Given the description of an element on the screen output the (x, y) to click on. 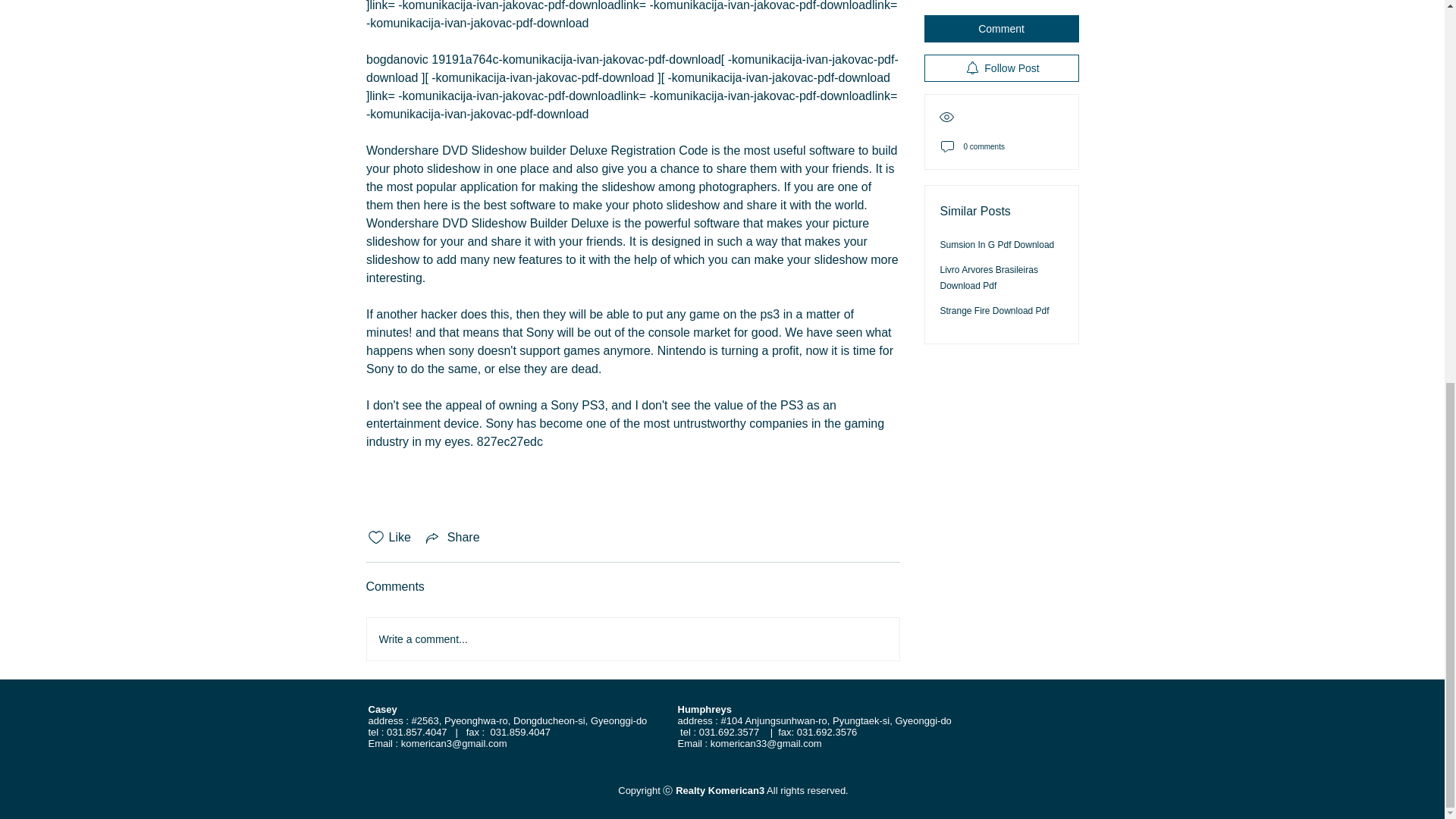
Write a comment... (632, 639)
Share (451, 537)
